Given the description of an element on the screen output the (x, y) to click on. 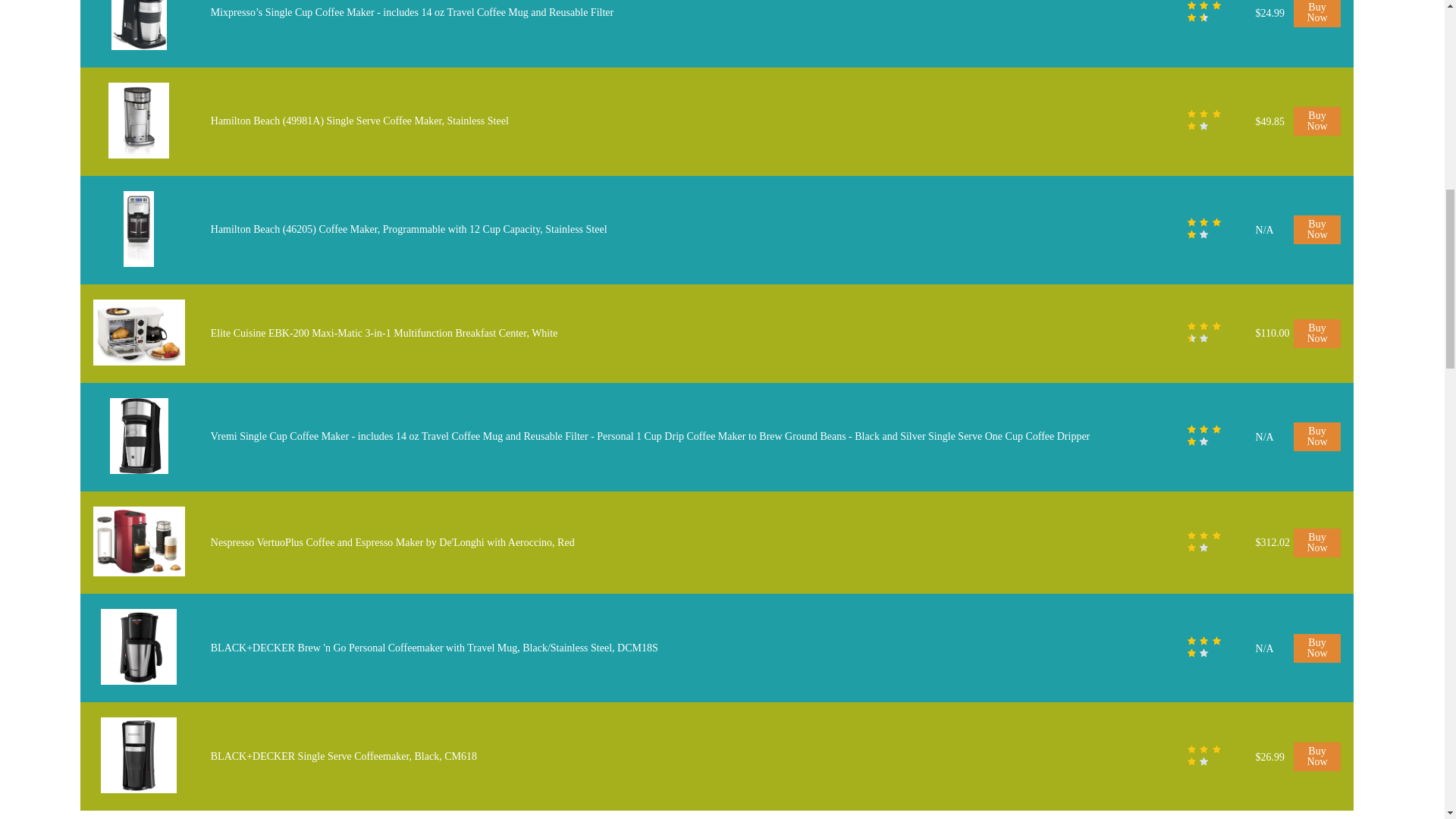
Buy Now (1317, 13)
Buy Now (1317, 436)
Buy Now (1317, 333)
Buy Now (1317, 229)
Buy Now (1317, 121)
